Given the description of an element on the screen output the (x, y) to click on. 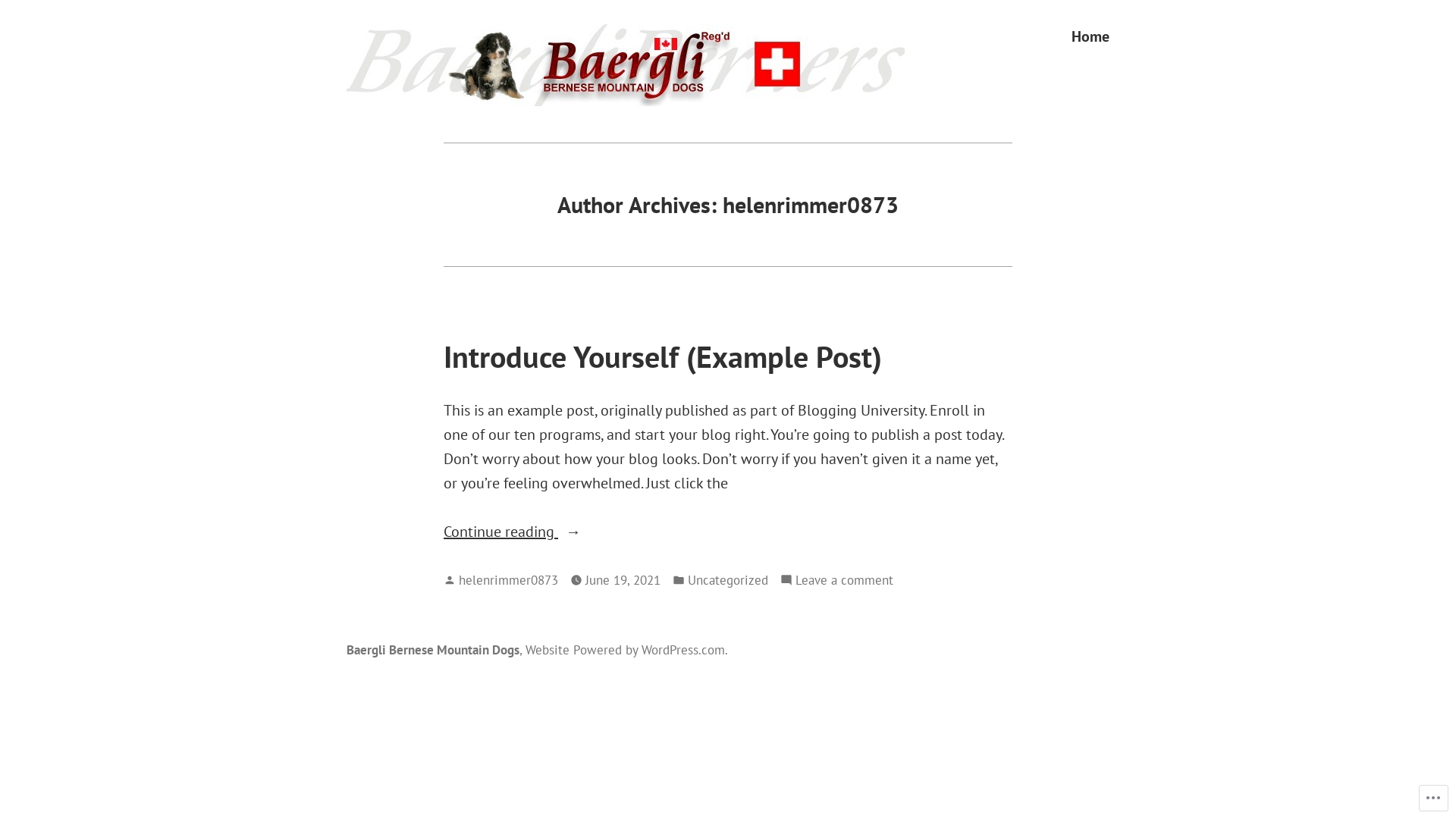
Uncategorized Element type: text (727, 579)
Baergli Bernese Mountain Dogs Element type: text (432, 649)
Introduce Yourself (Example Post) Element type: text (662, 356)
helenrimmer0873 Element type: text (508, 579)
Home Element type: text (1090, 35)
Website Powered by WordPress.com Element type: text (624, 649)
June 19, 2021 Element type: text (622, 579)
Baergli Bernese Mountain Dogs Element type: text (525, 104)
Continue reading Element type: text (727, 531)
Leave a comment Element type: text (844, 579)
